Given the description of an element on the screen output the (x, y) to click on. 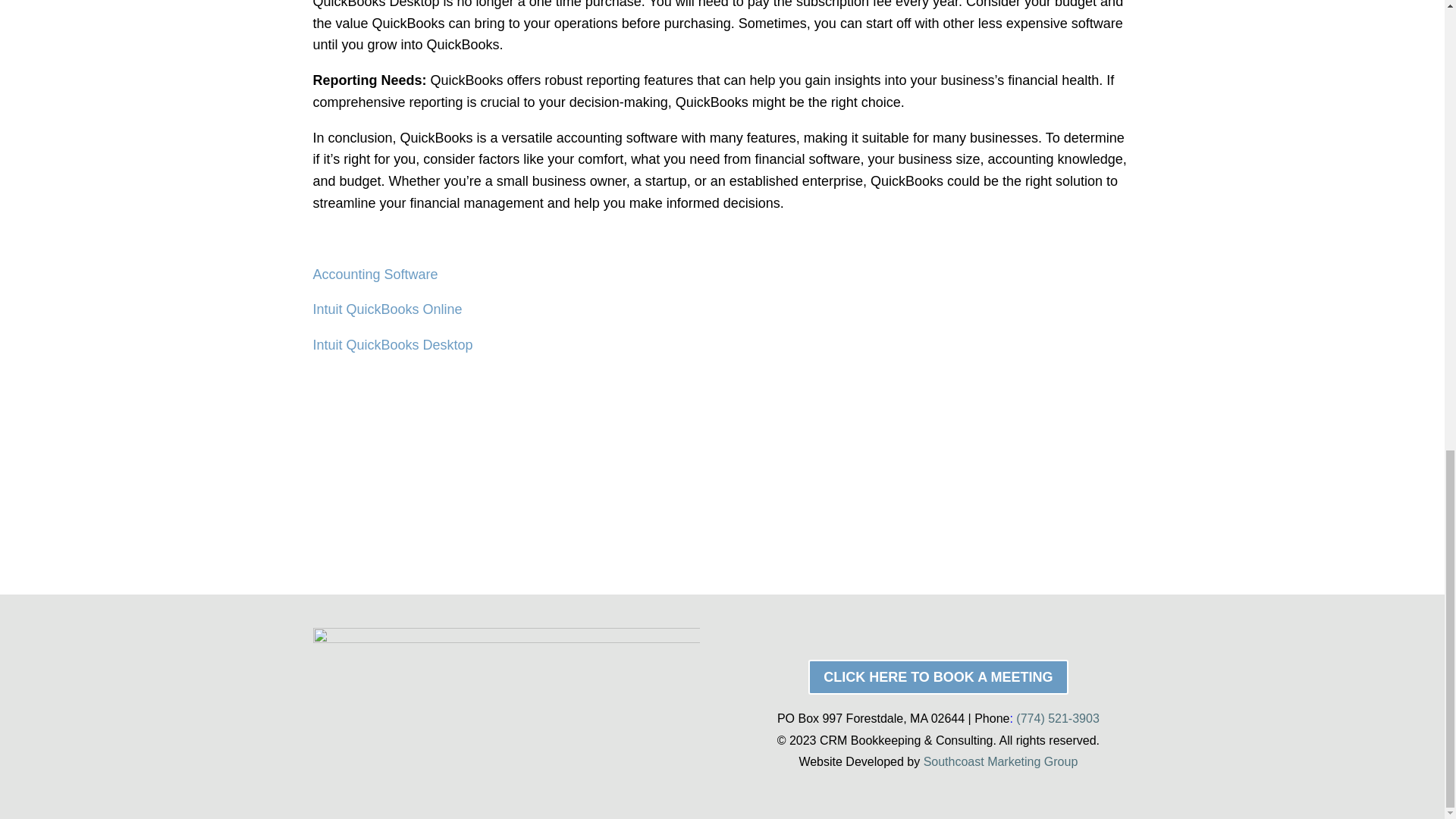
CLICK HERE TO BOOK A MEETING (937, 676)
CRM - Main Logo - Full Color - RGB (505, 707)
Intuit QuickBooks Online (387, 309)
Accounting Software  (377, 273)
Intuit QuickBooks Desktop (392, 344)
Southcoast Marketing Group (1000, 761)
